Given the description of an element on the screen output the (x, y) to click on. 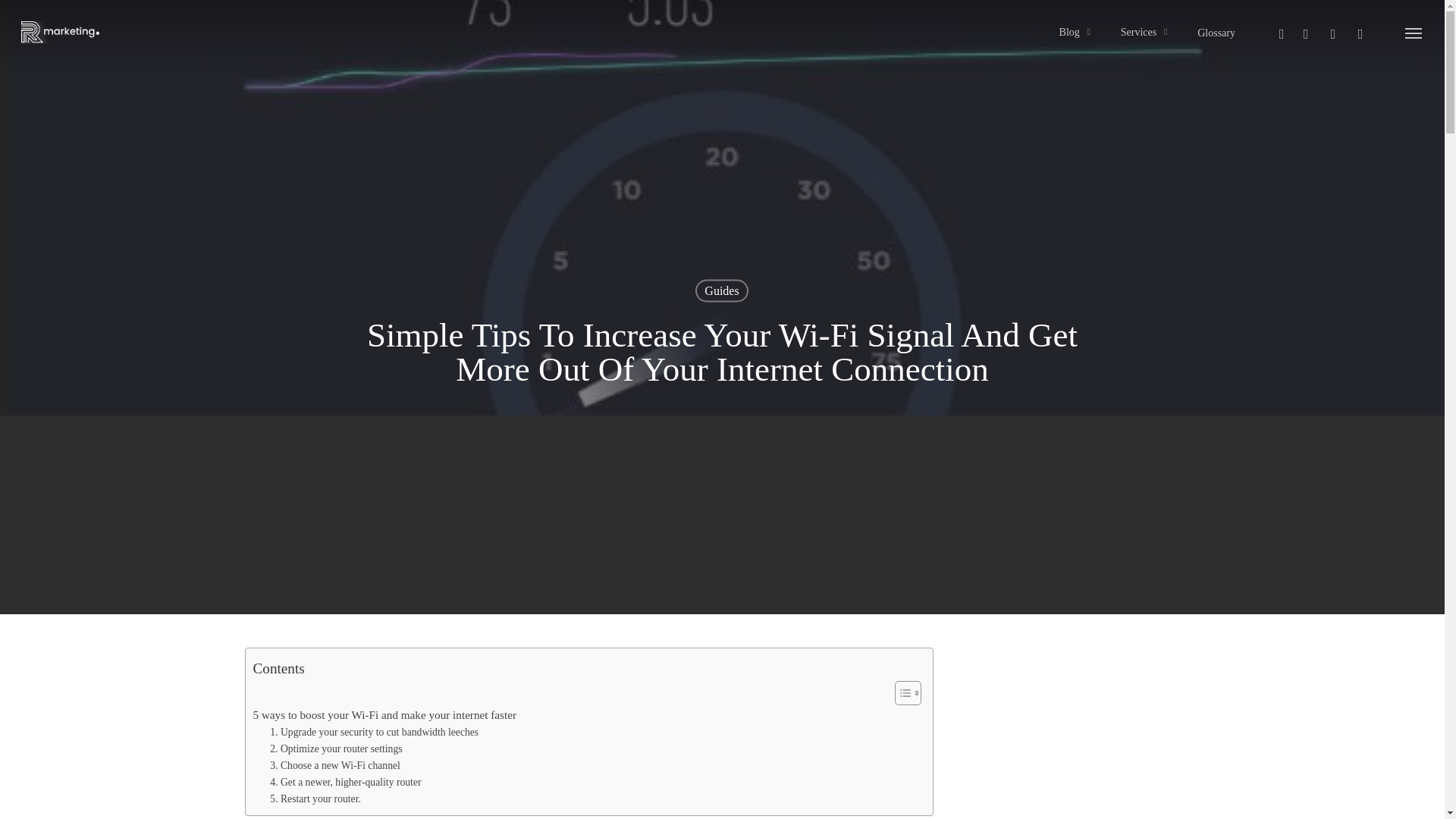
5 ways to boost your Wi-Fi and make your internet faster (384, 714)
5. Restart your router. (315, 799)
1. Upgrade your security to cut bandwidth leeches (374, 732)
Blog (1077, 32)
4. Get a newer, higher-quality router (344, 782)
3. Choose a new Wi-Fi channel (334, 765)
2. Optimize your router settings (335, 749)
